Given the description of an element on the screen output the (x, y) to click on. 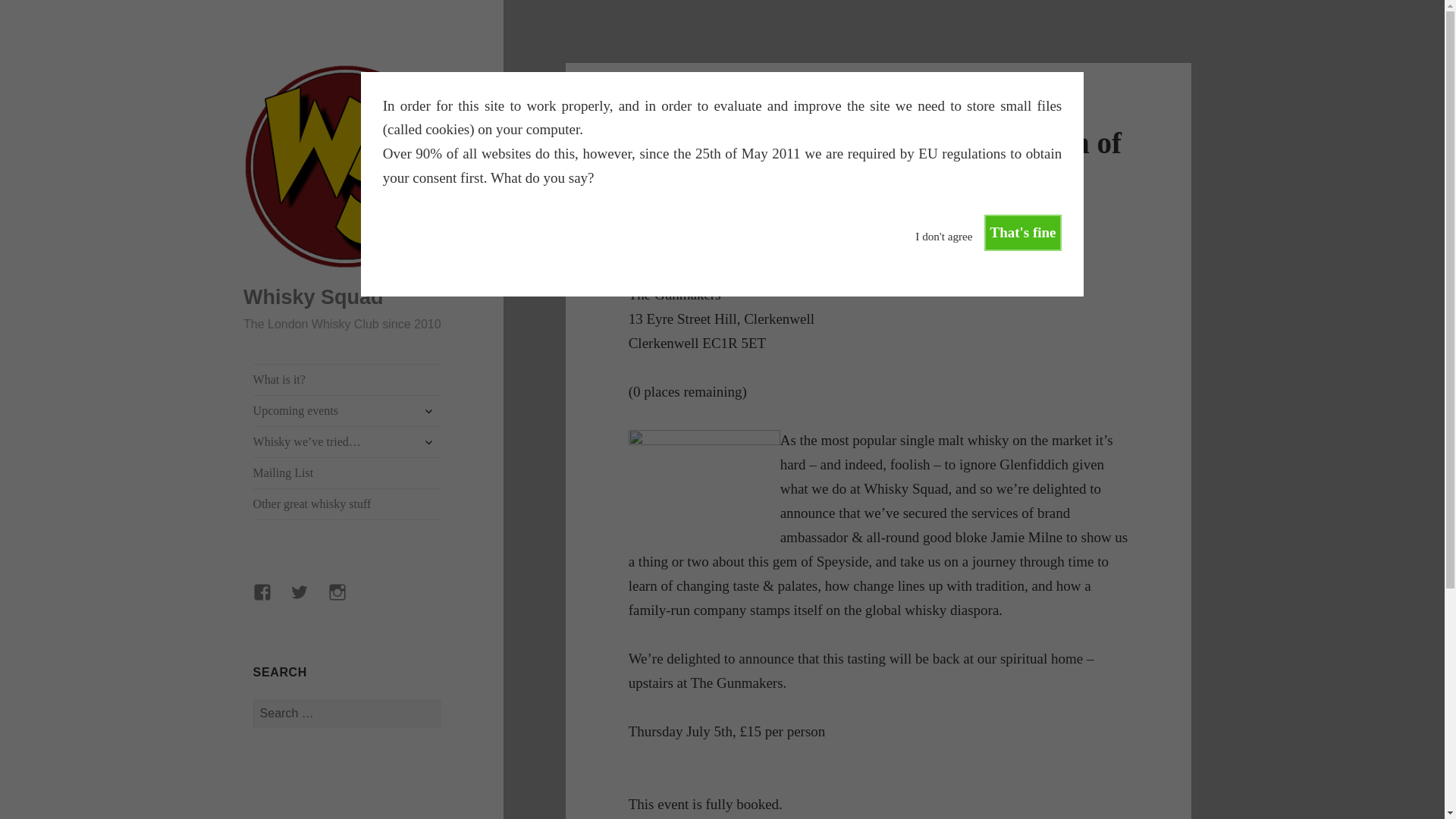
Upcoming events (347, 410)
That's fine (1022, 232)
I don't agree (943, 229)
Twitter (307, 601)
Instagram (347, 601)
What is it? (347, 379)
Other great whisky stuff (347, 503)
expand child menu (428, 441)
FB (271, 601)
expand child menu (428, 410)
Whisky Squad (313, 296)
Mailing List (347, 472)
